Given the description of an element on the screen output the (x, y) to click on. 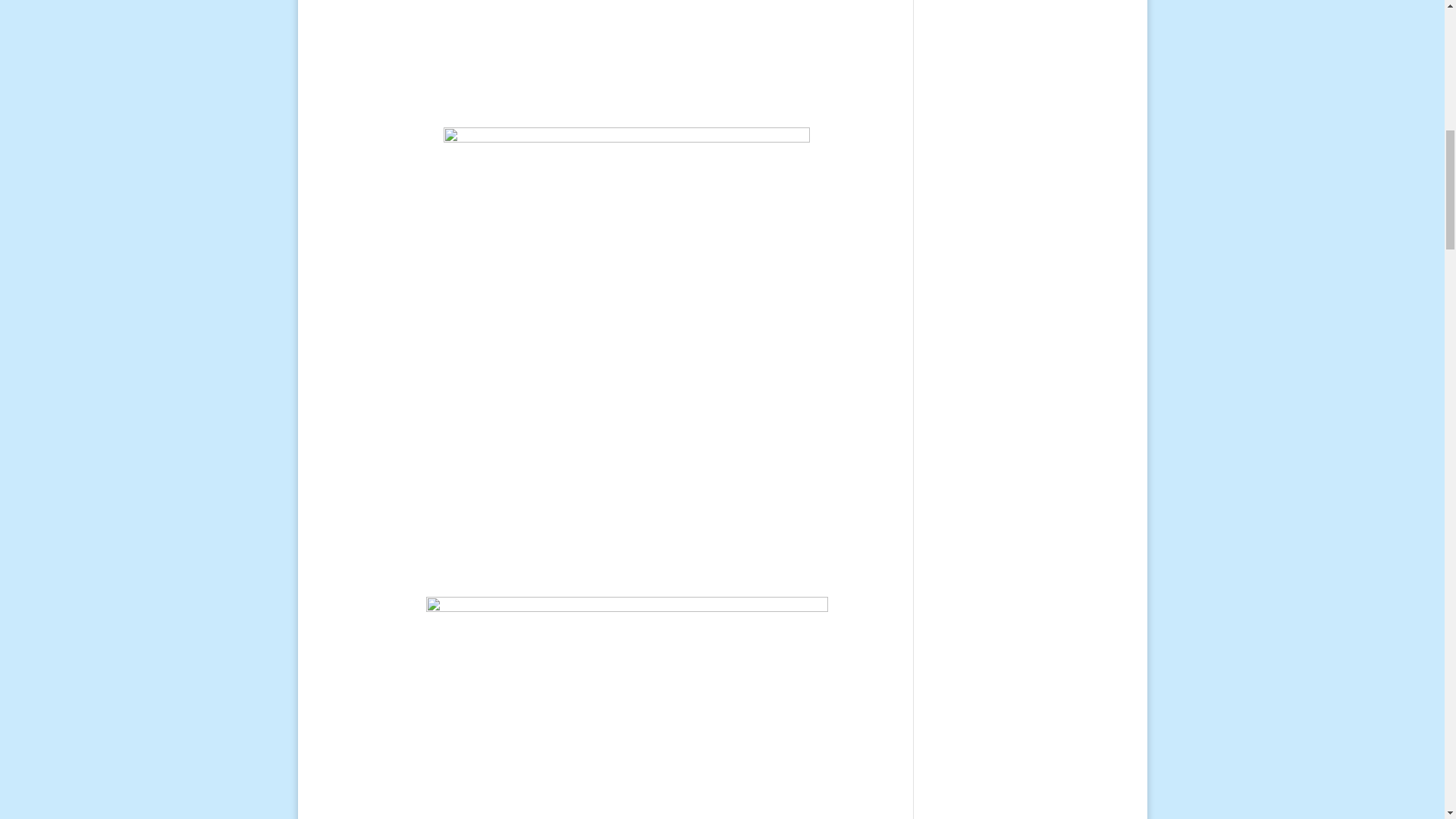
The Balloons! (627, 708)
Meeting his new Pet Rock (627, 58)
